Given the description of an element on the screen output the (x, y) to click on. 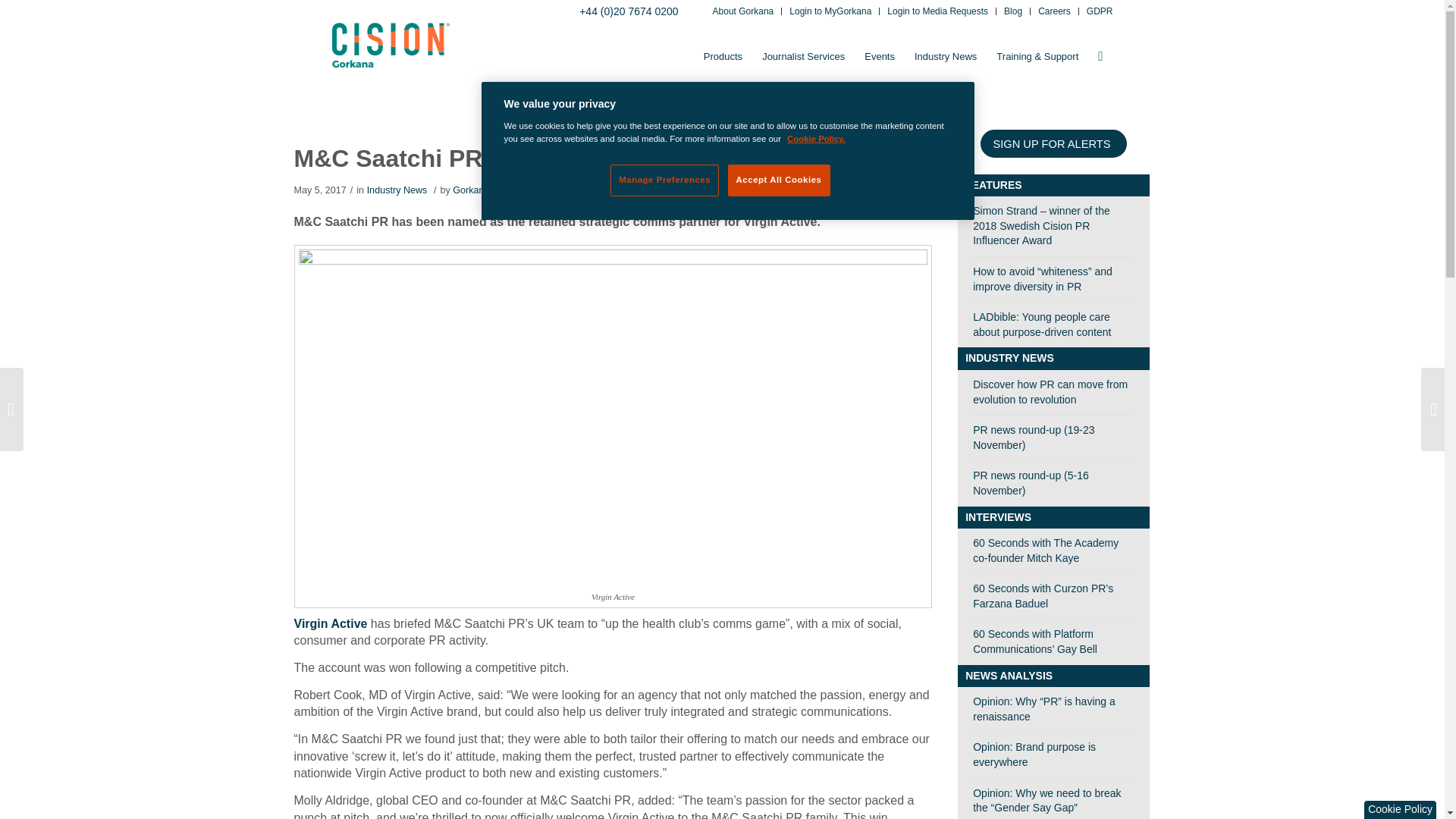
Industry News (945, 56)
Careers (1054, 12)
Journalist Services (803, 56)
Login to MyGorkana (829, 12)
Login to Media Requests (937, 12)
Posts by Gorkana News Editor (497, 190)
About Gorkana (743, 12)
GDPR (1099, 12)
